Given the description of an element on the screen output the (x, y) to click on. 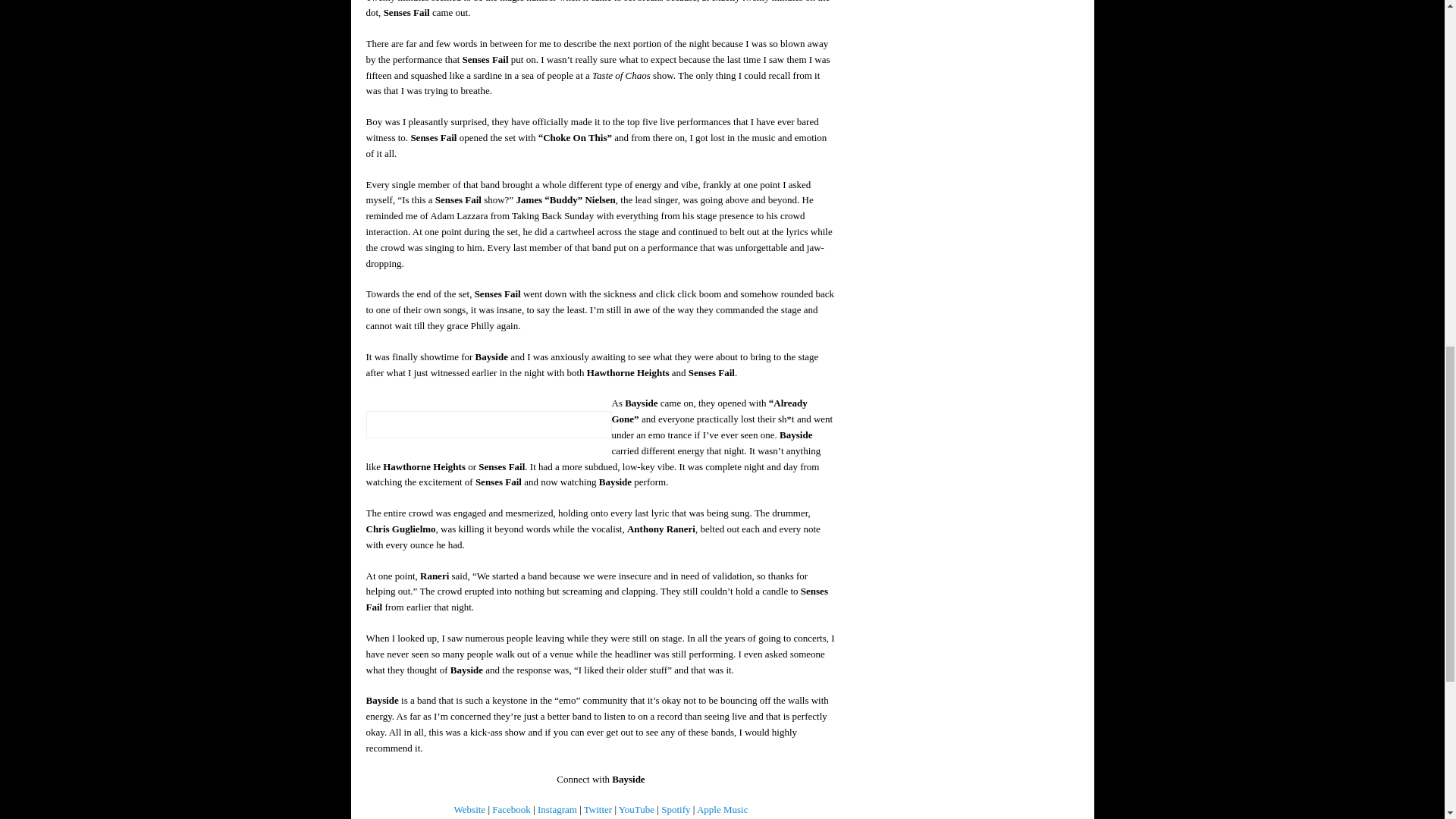
Website (470, 808)
Instagram (556, 808)
Facebook (511, 808)
